Given the description of an element on the screen output the (x, y) to click on. 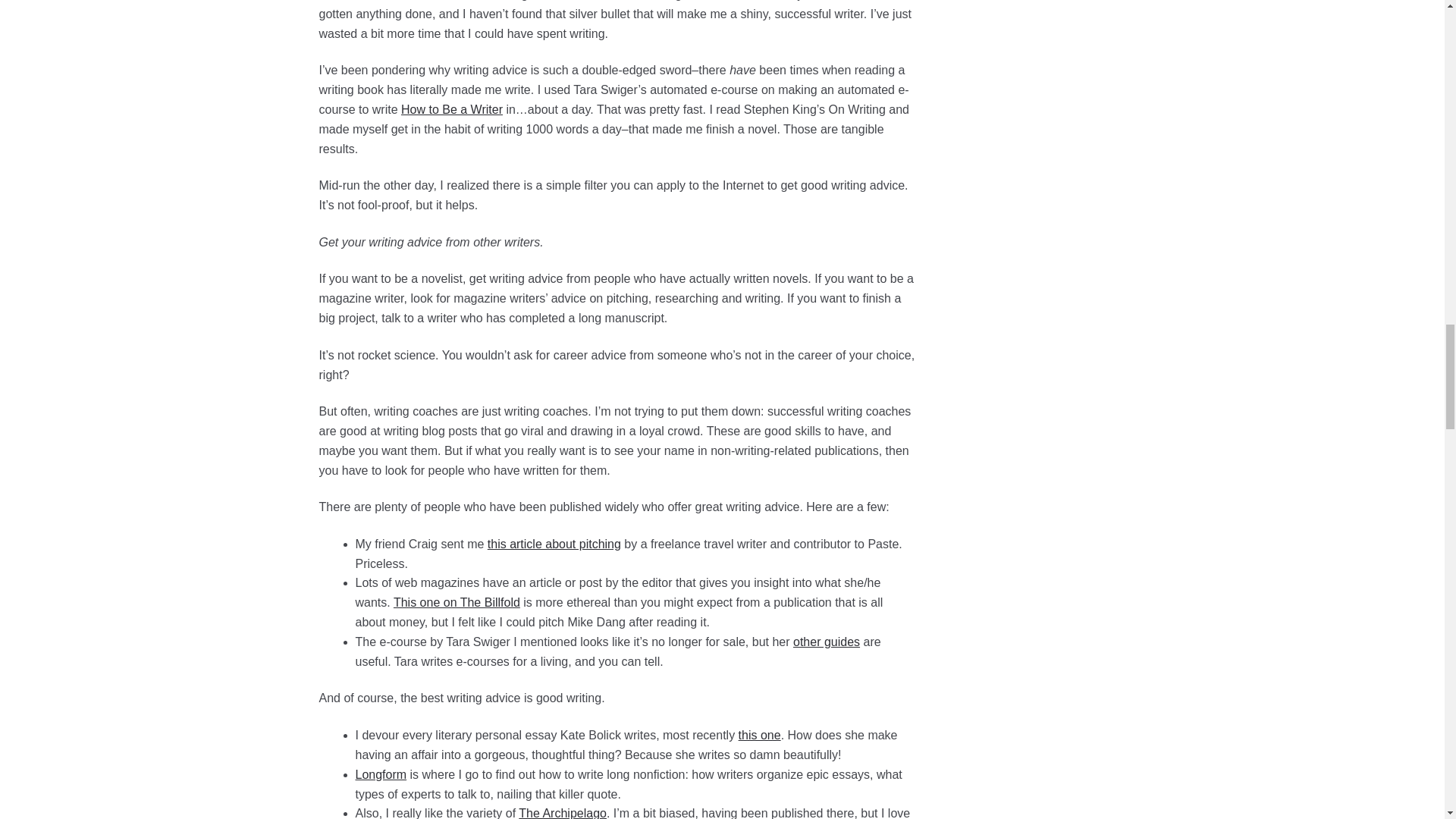
How to Be a Writer (451, 109)
this article about pitching (554, 543)
This one on The Billfold (456, 602)
